Given the description of an element on the screen output the (x, y) to click on. 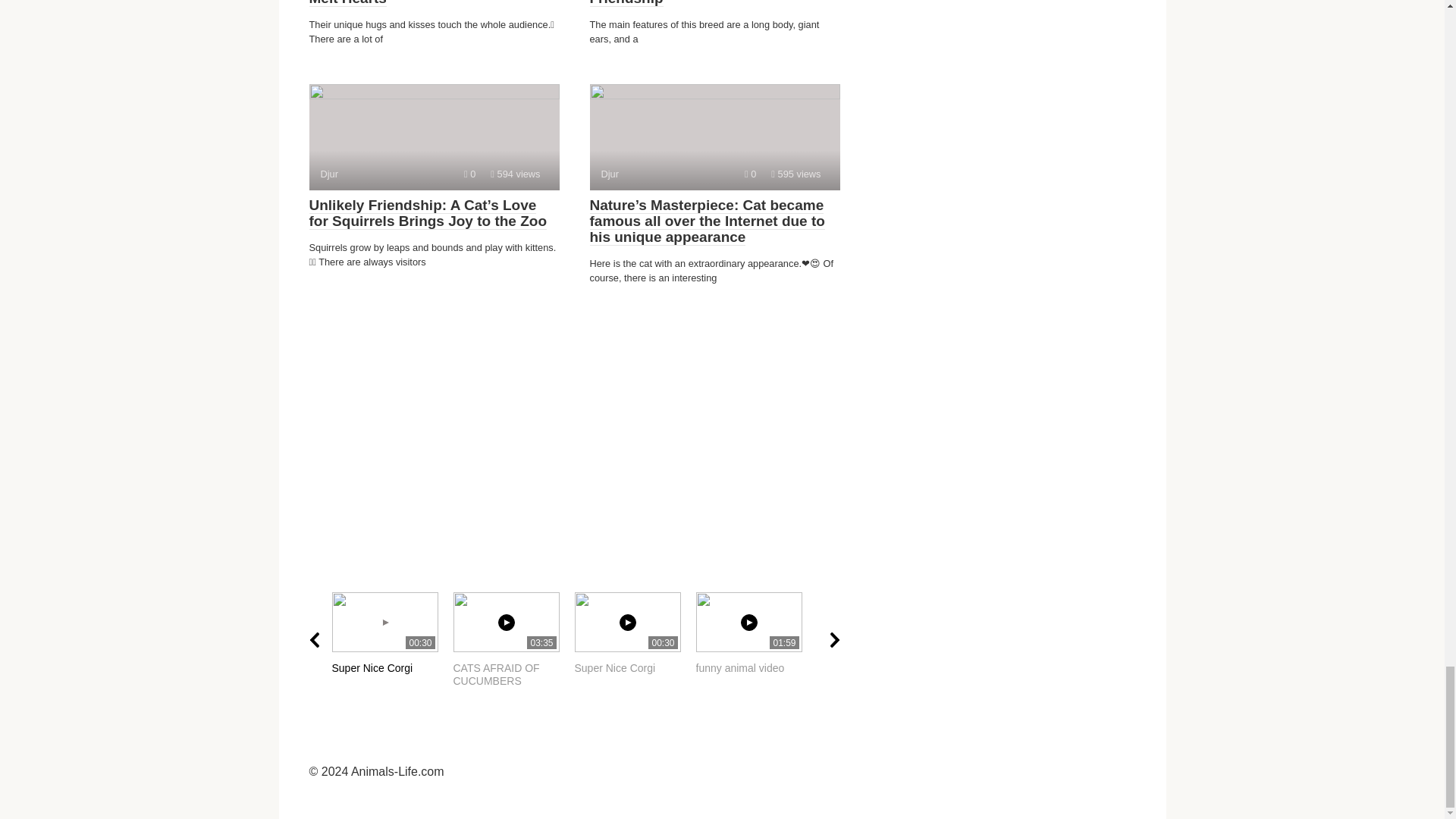
Comments (635, 639)
Comments (755, 639)
Views (714, 137)
Views (391, 639)
